Given the description of an element on the screen output the (x, y) to click on. 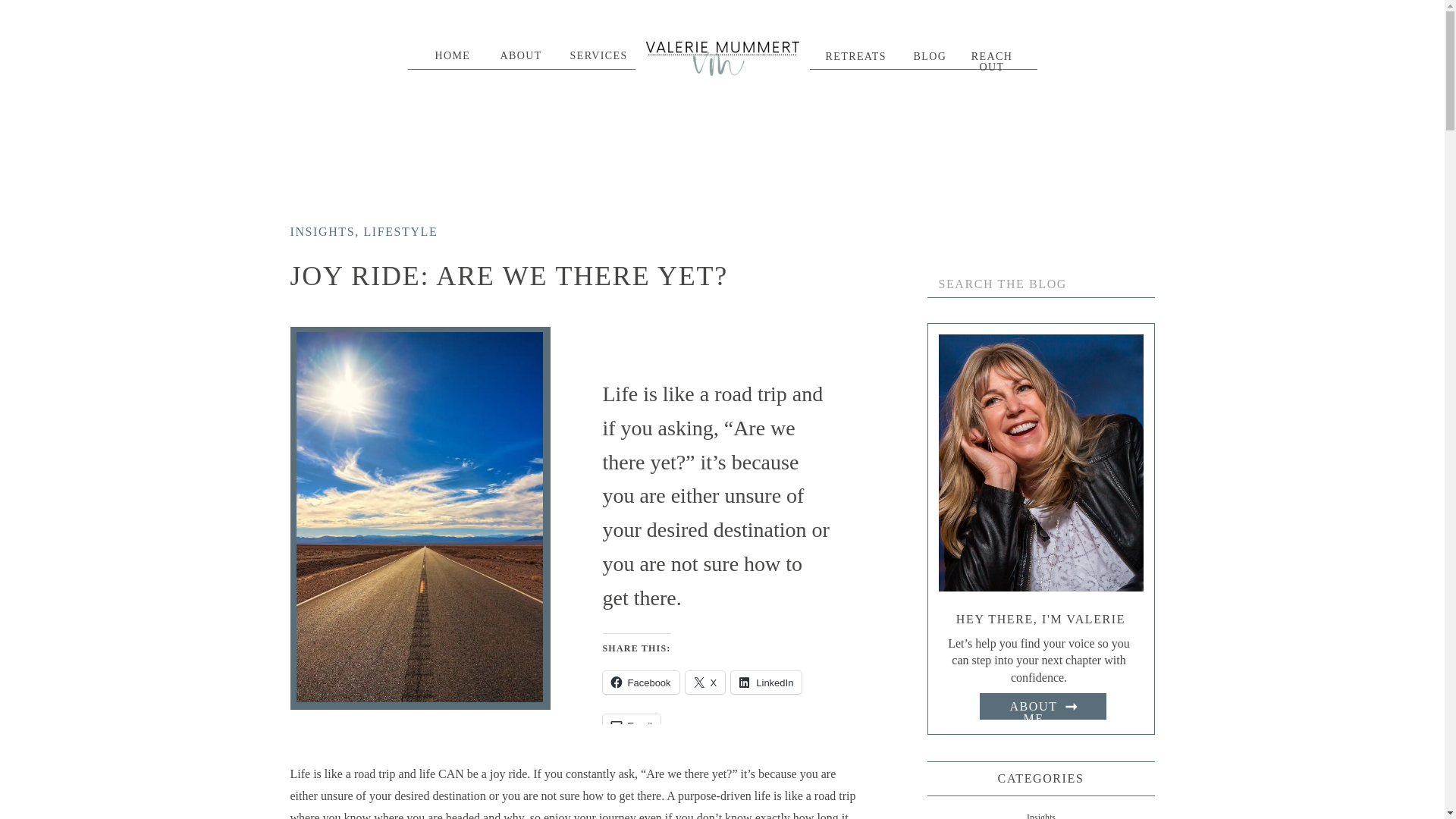
Like or Reblog (715, 812)
Click to share on LinkedIn (766, 681)
INSIGHTS (322, 231)
LIFESTYLE (400, 231)
RETREATS (850, 57)
Click to share on X (705, 681)
Click to email a link to a friend (631, 725)
LinkedIn (766, 681)
SERVICES (590, 56)
Click to share on Facebook (640, 681)
BLOG (924, 57)
REACH OUT (992, 57)
Email (631, 725)
ABOUT (514, 56)
Facebook (640, 681)
